Given the description of an element on the screen output the (x, y) to click on. 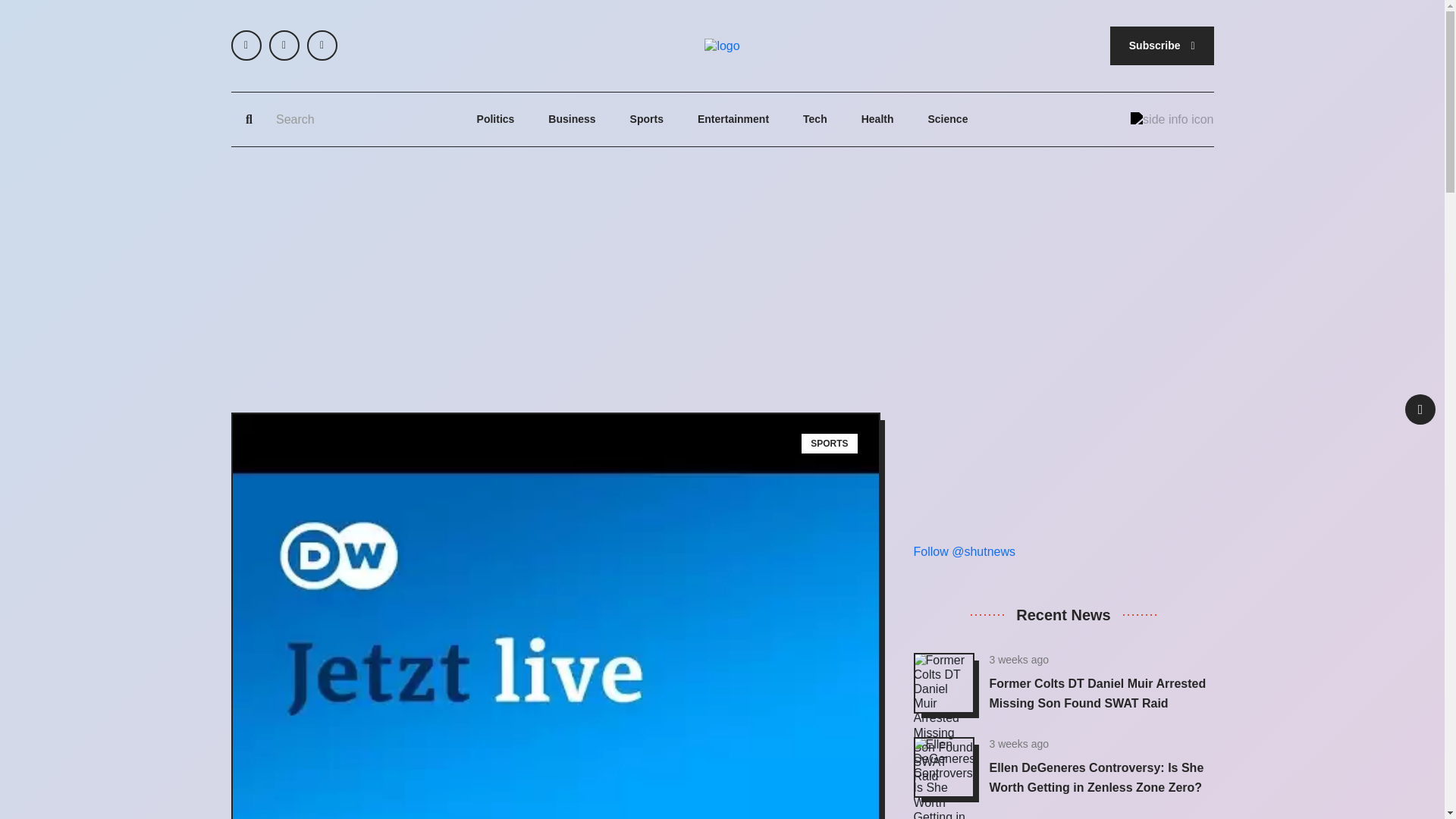
Business (571, 119)
Science (948, 119)
Entertainment (732, 119)
Subscribe (1161, 45)
Tech (815, 119)
SPORTS (829, 443)
Politics (496, 119)
Sports (646, 119)
Health (877, 119)
